Given the description of an element on the screen output the (x, y) to click on. 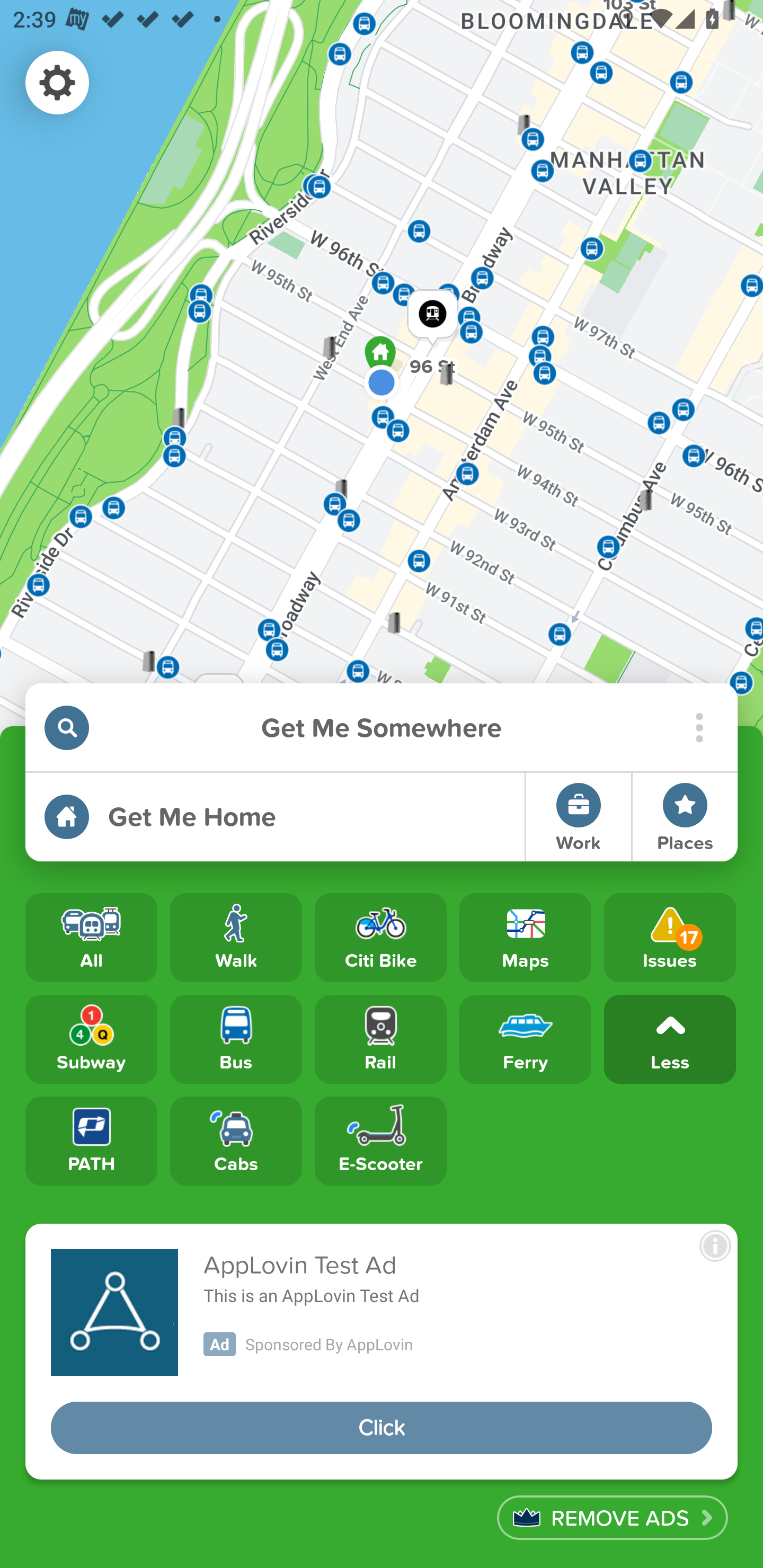
Cabs (236, 1140)
